Given the description of an element on the screen output the (x, y) to click on. 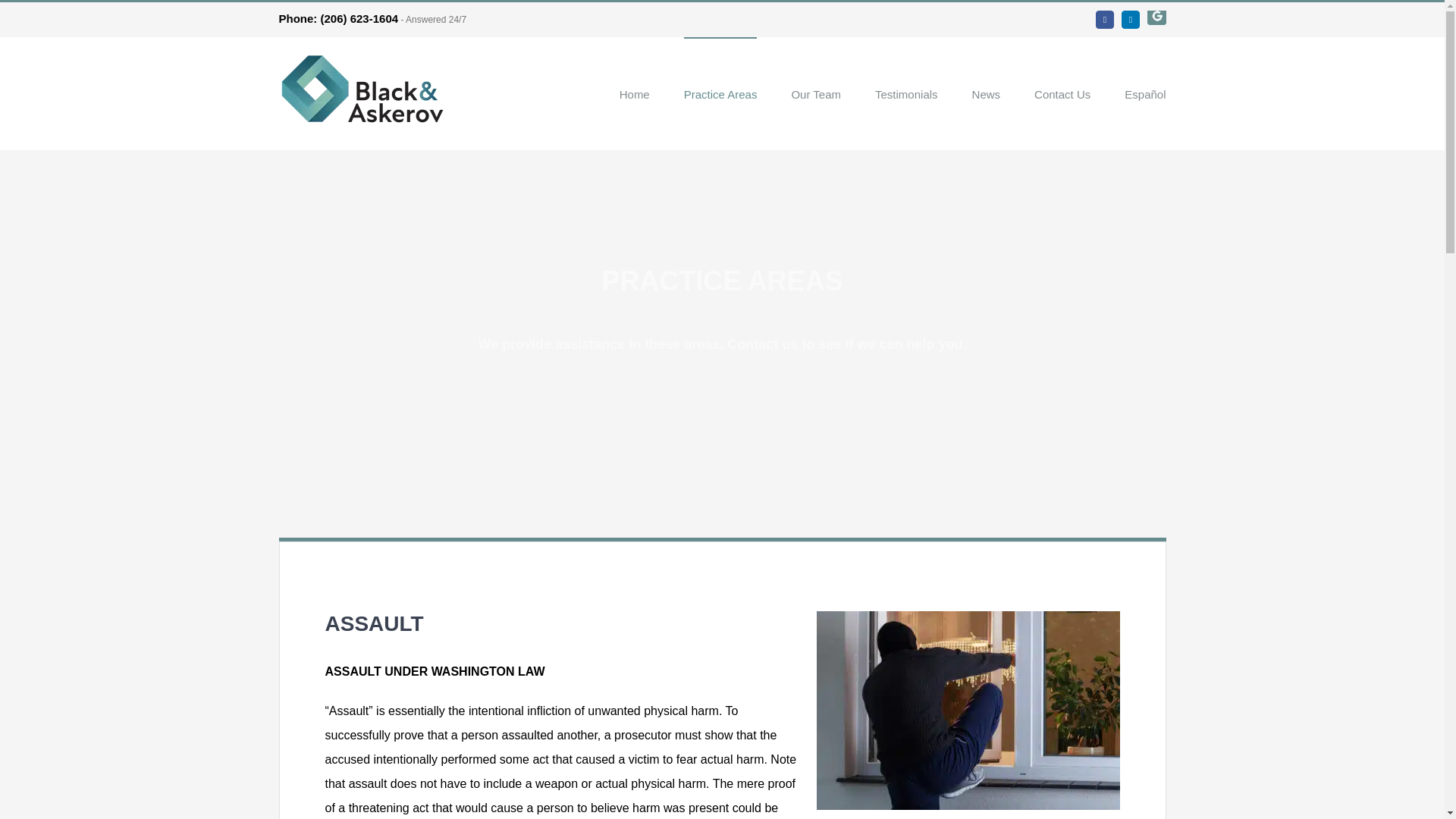
Facebook (1104, 19)
Google (1156, 15)
LinkedIn (1130, 19)
Google (1156, 15)
Facebook (1104, 19)
LinkedIn (1130, 19)
